Given the description of an element on the screen output the (x, y) to click on. 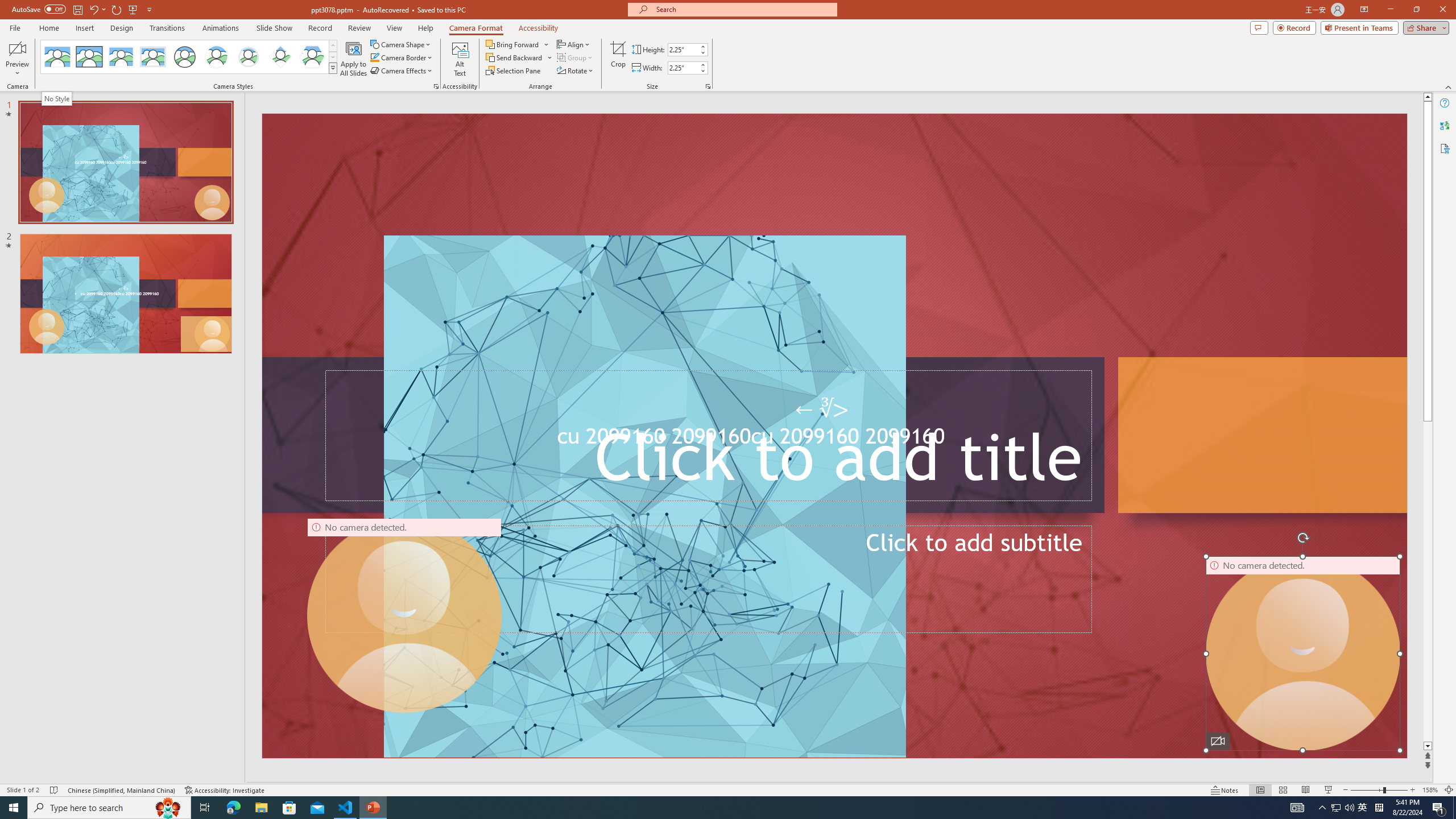
No Style (57, 98)
Alt Text (459, 58)
Simple Frame Circle (184, 56)
Selection Pane... (513, 69)
Center Shadow Diamond (280, 56)
